Given the description of an element on the screen output the (x, y) to click on. 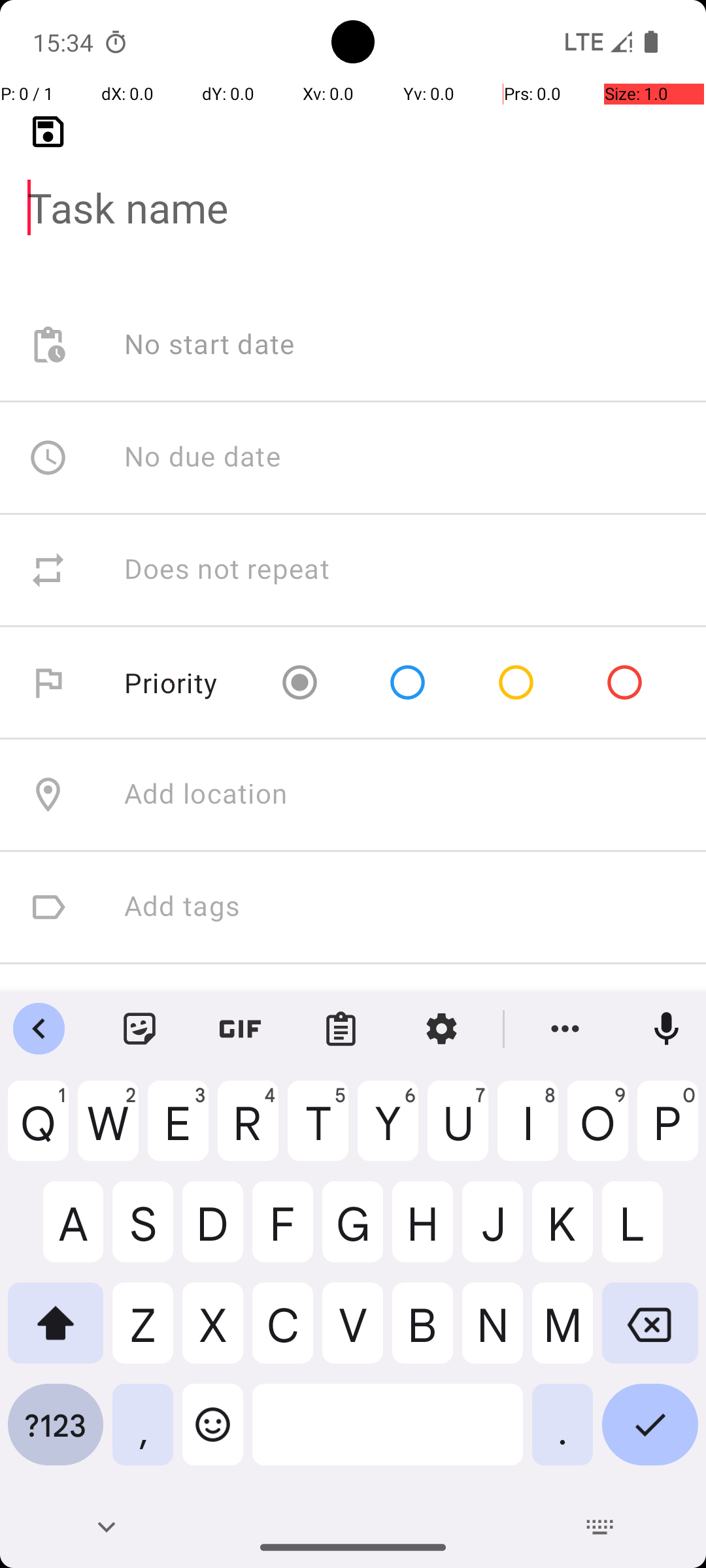
Task name Element type: android.widget.EditText (353, 186)
No due date Element type: android.widget.TextView (202, 457)
